Given the description of an element on the screen output the (x, y) to click on. 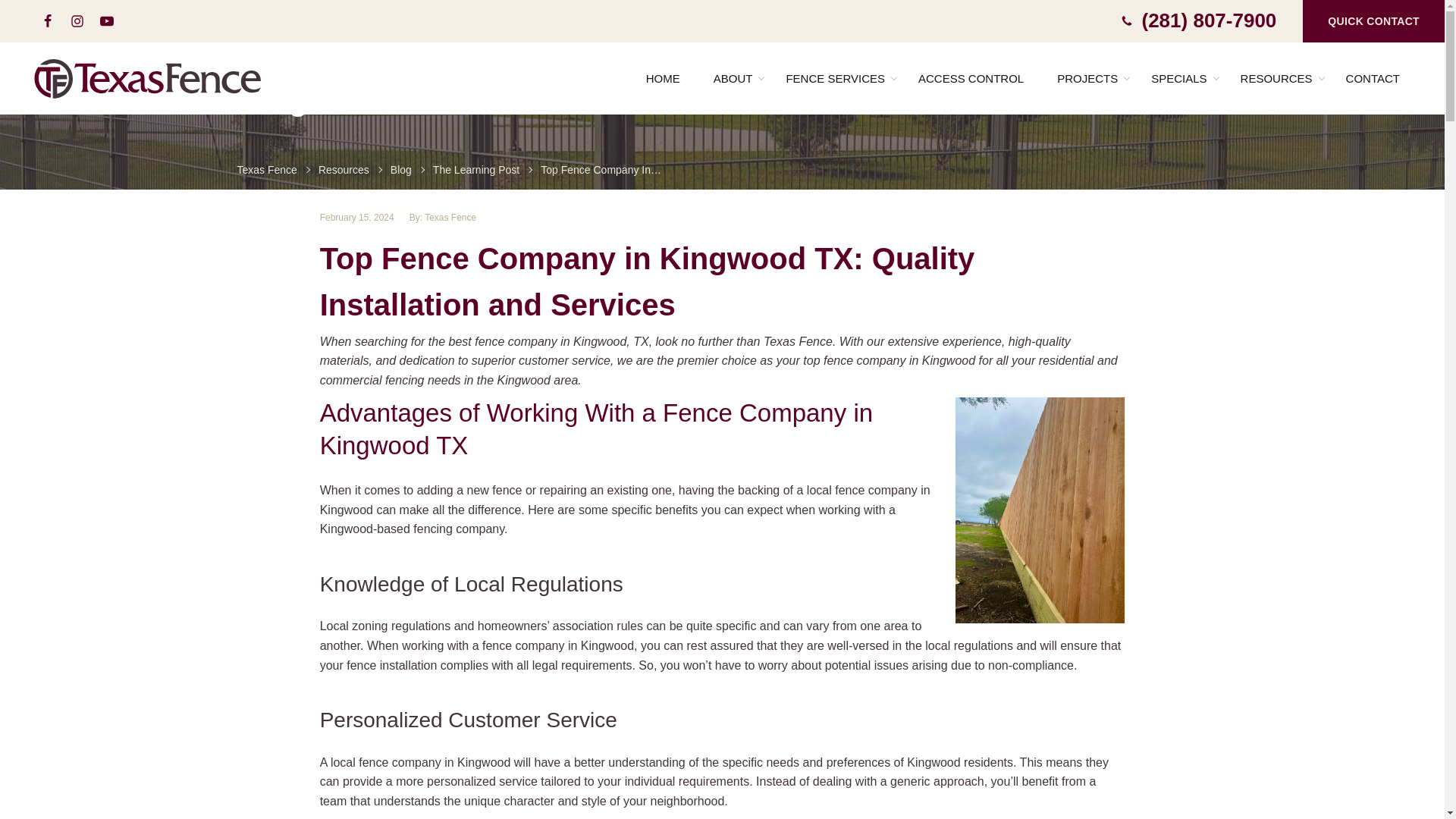
PROJECTS (1087, 78)
Texas Fence (148, 78)
Go to Resources. (343, 169)
Go to Texas Fence. (266, 169)
ACCESS CONTROL (971, 78)
FENCE SERVICES (835, 78)
Go to Blog. (401, 169)
Go to the The Learning Post Category archives. (475, 169)
